Given the description of an element on the screen output the (x, y) to click on. 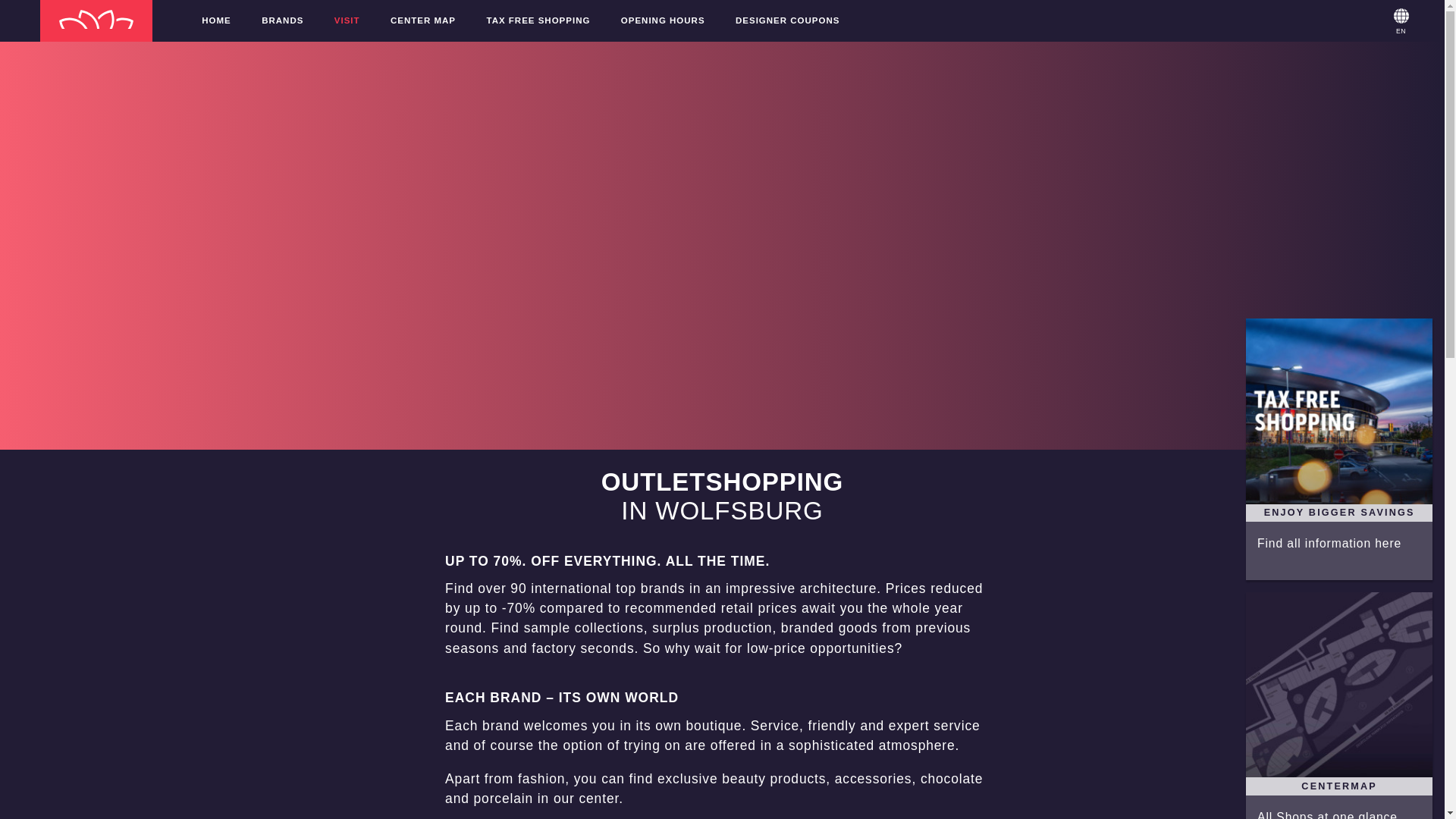
BRANDS (282, 20)
DESIGNER COUPONS (787, 20)
OPENING HOURS (662, 20)
HOME (216, 20)
TAX FREE SHOPPING (537, 20)
CENTER MAP (422, 20)
VISIT (346, 20)
Homepage (96, 20)
